Given the description of an element on the screen output the (x, y) to click on. 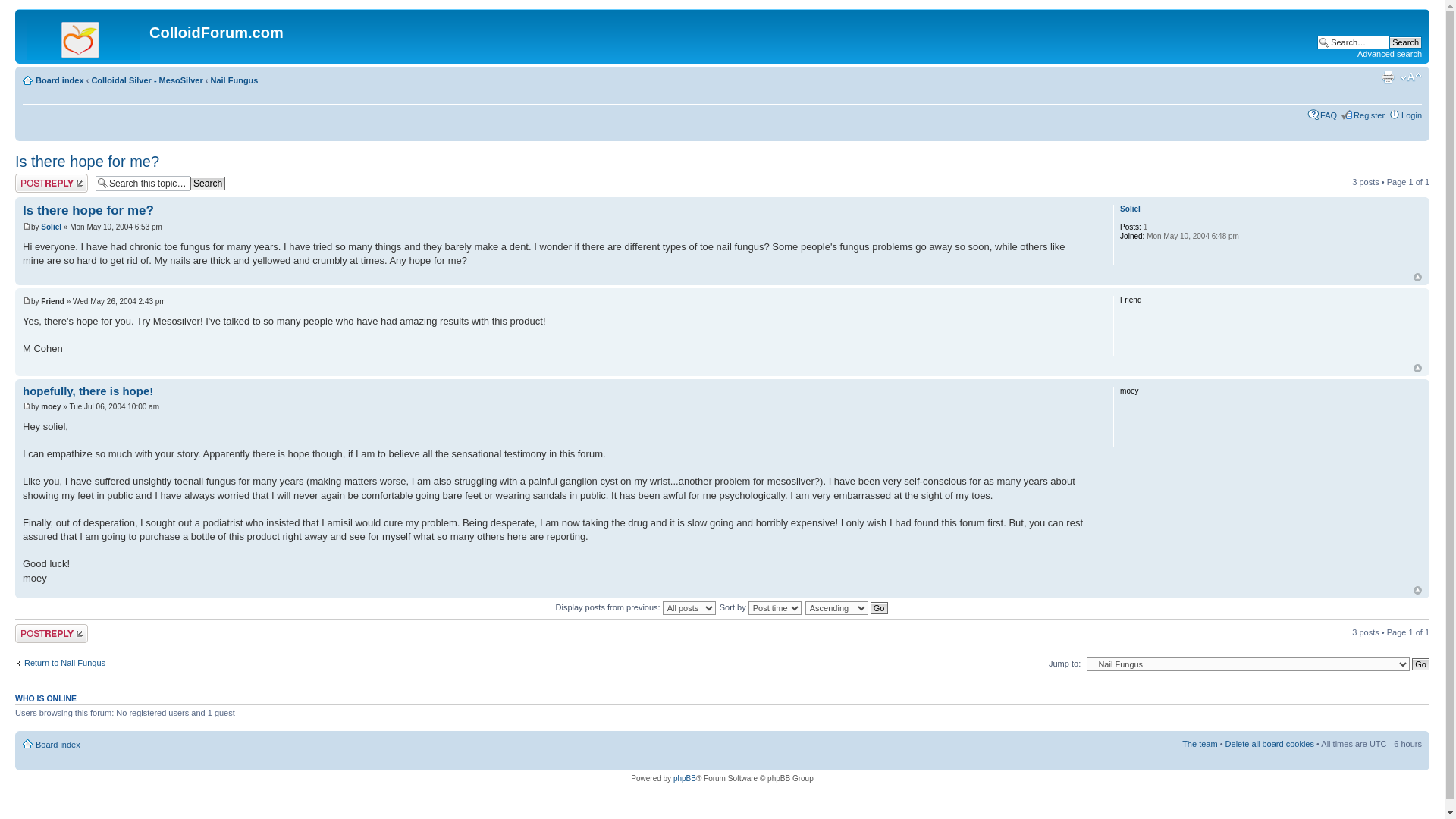
Advanced search (1389, 53)
Search (1405, 42)
Top (1417, 276)
Is there hope for me? (88, 210)
Search (207, 183)
Frequently Asked Questions (1328, 114)
Go (1420, 664)
Post (26, 300)
FAQ (1328, 114)
Nail Fungus (235, 80)
